Given the description of an element on the screen output the (x, y) to click on. 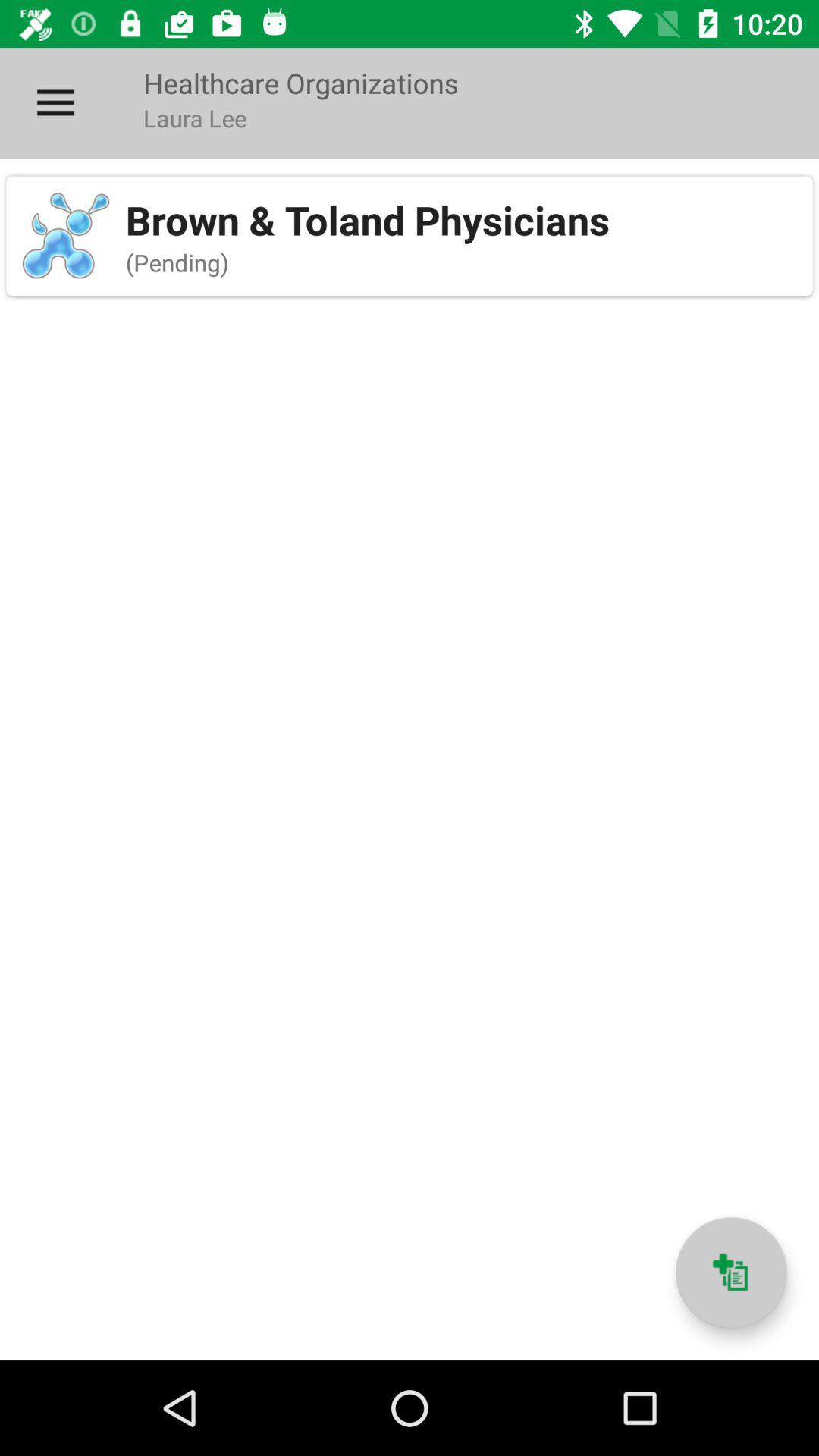
add new healthcare organization (731, 1272)
